Given the description of an element on the screen output the (x, y) to click on. 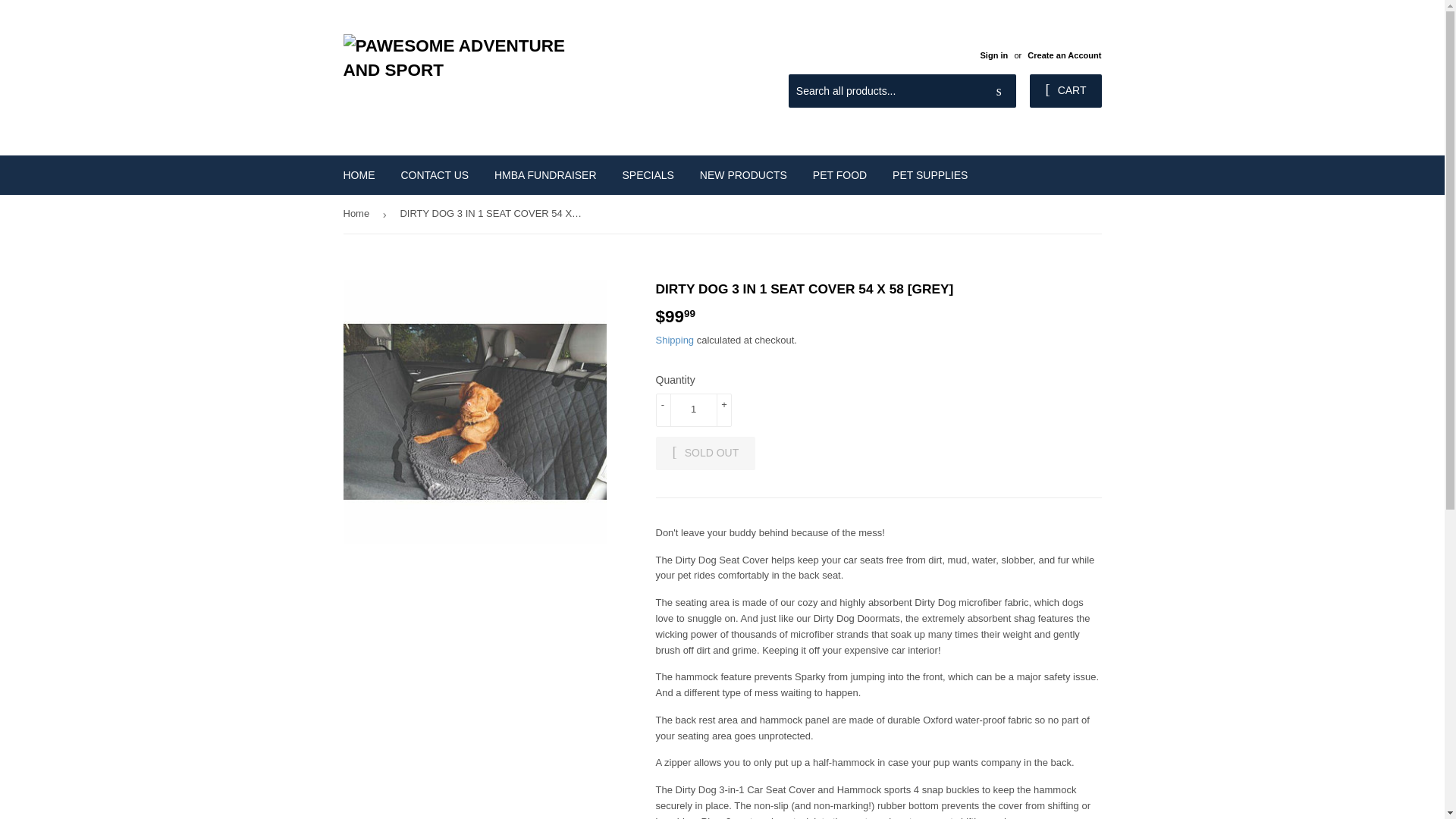
Shipping (674, 339)
PET FOOD (839, 174)
HMBA FUNDRAISER (545, 174)
NEW PRODUCTS (742, 174)
1 (692, 409)
HOME (359, 174)
SPECIALS (647, 174)
SOLD OUT (705, 453)
Sign in (993, 54)
Search (998, 91)
